Given the description of an element on the screen output the (x, y) to click on. 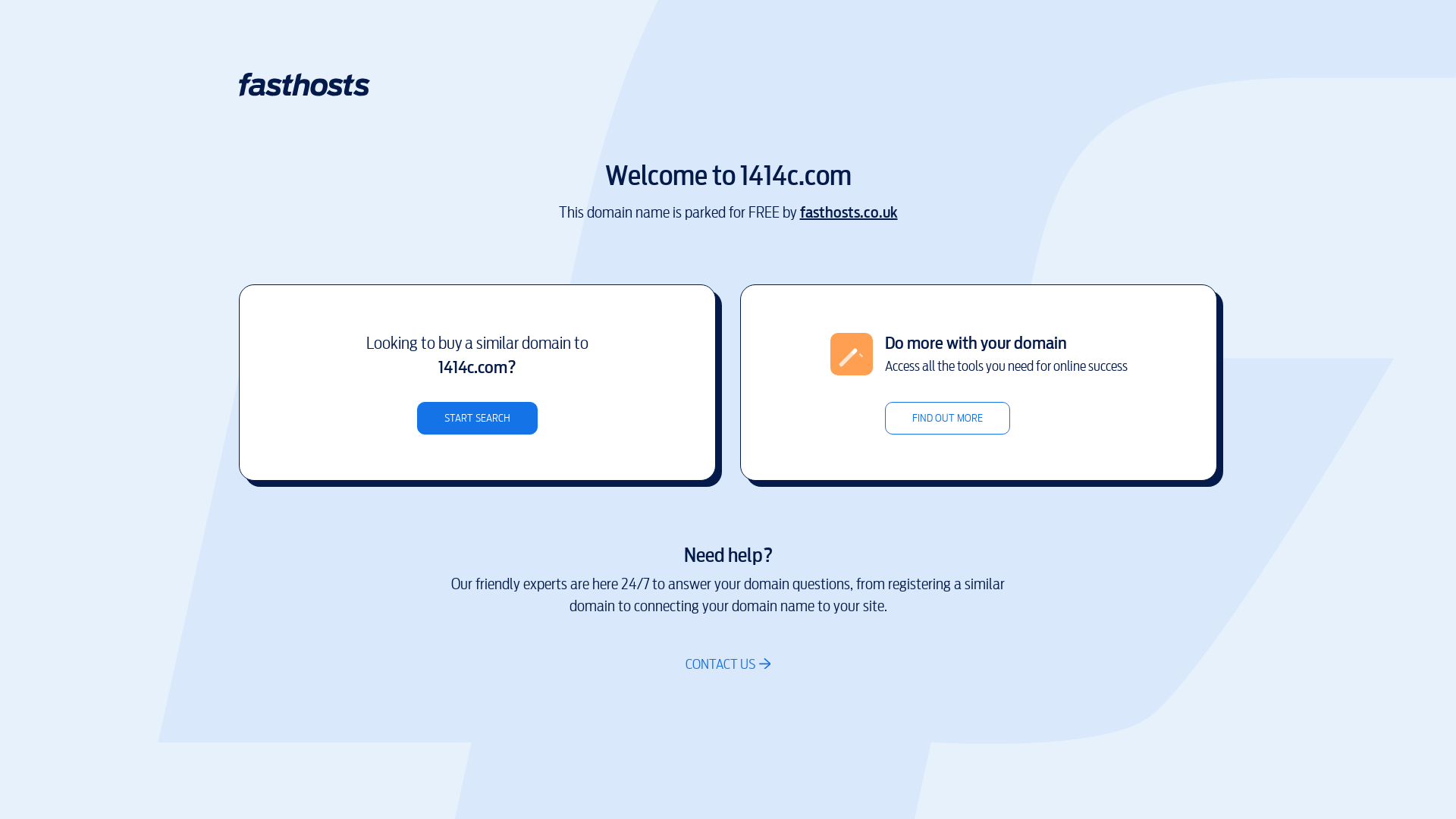
FIND OUT MORE Element type: text (946, 417)
START SEARCH Element type: text (477, 417)
fasthosts.co.uk Element type: text (848, 212)
CONTACT US Element type: text (727, 663)
